Given the description of an element on the screen output the (x, y) to click on. 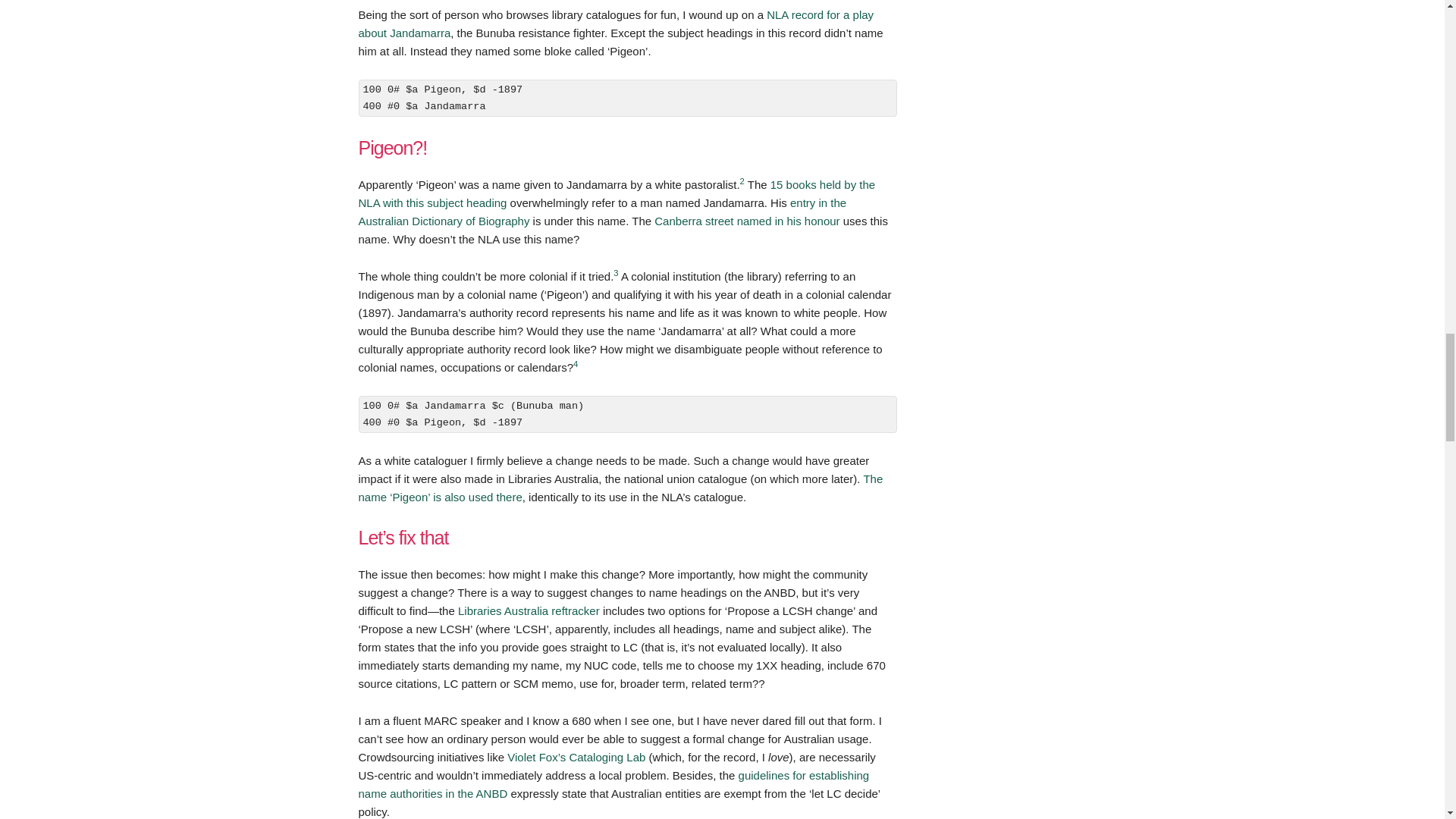
15 books held by the NLA with this subject heading (616, 193)
guidelines for establishing name authorities in the ANBD (613, 784)
Canberra street named in his honour (746, 220)
entry in the Australian Dictionary of Biography (601, 211)
Libraries Australia reftracker (528, 610)
NLA record for a play about Jandamarra (615, 23)
